Given the description of an element on the screen output the (x, y) to click on. 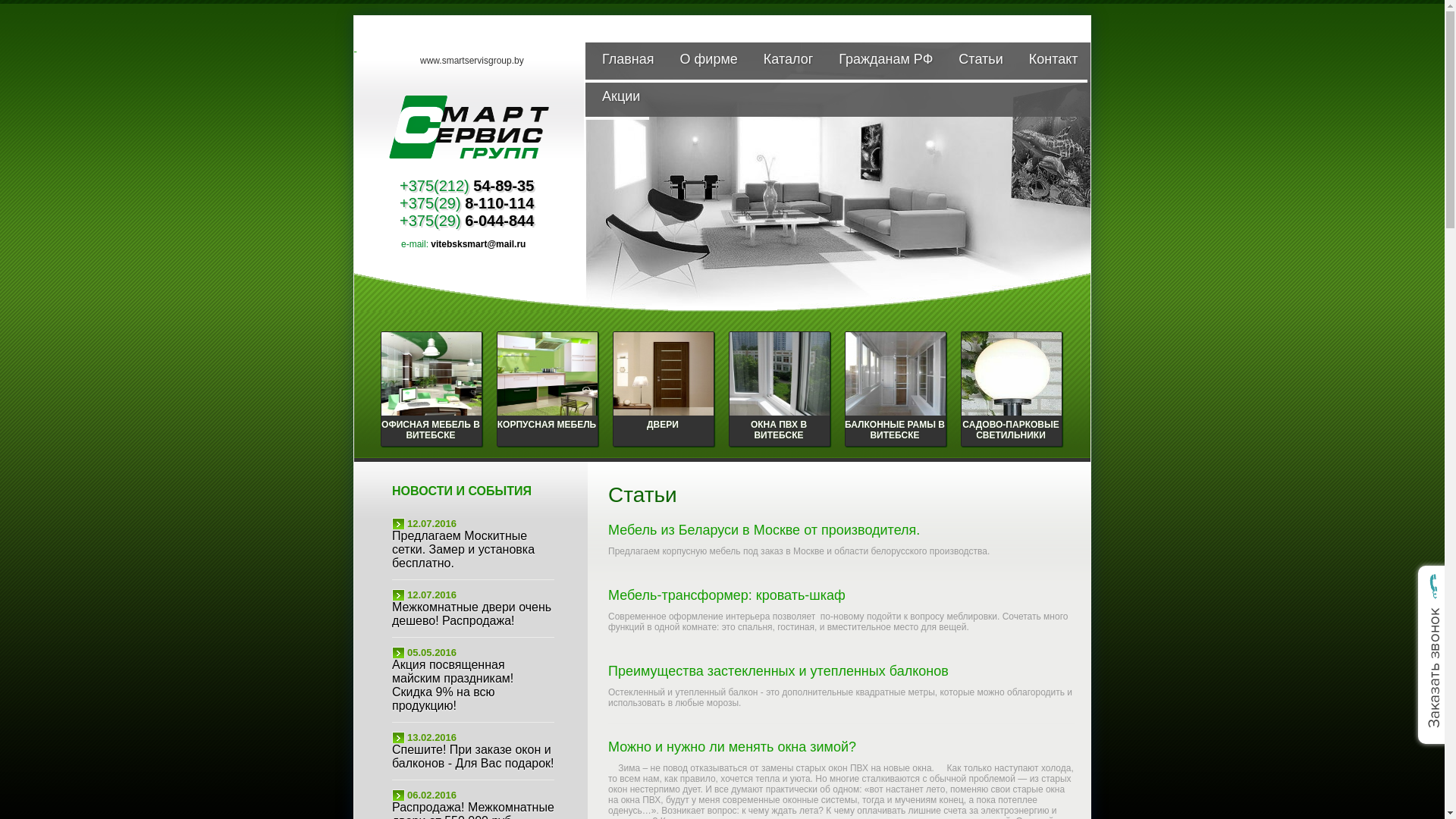
  Element type: text (469, 176)
www.smartservisgroup.by Element type: text (472, 60)
